Given the description of an element on the screen output the (x, y) to click on. 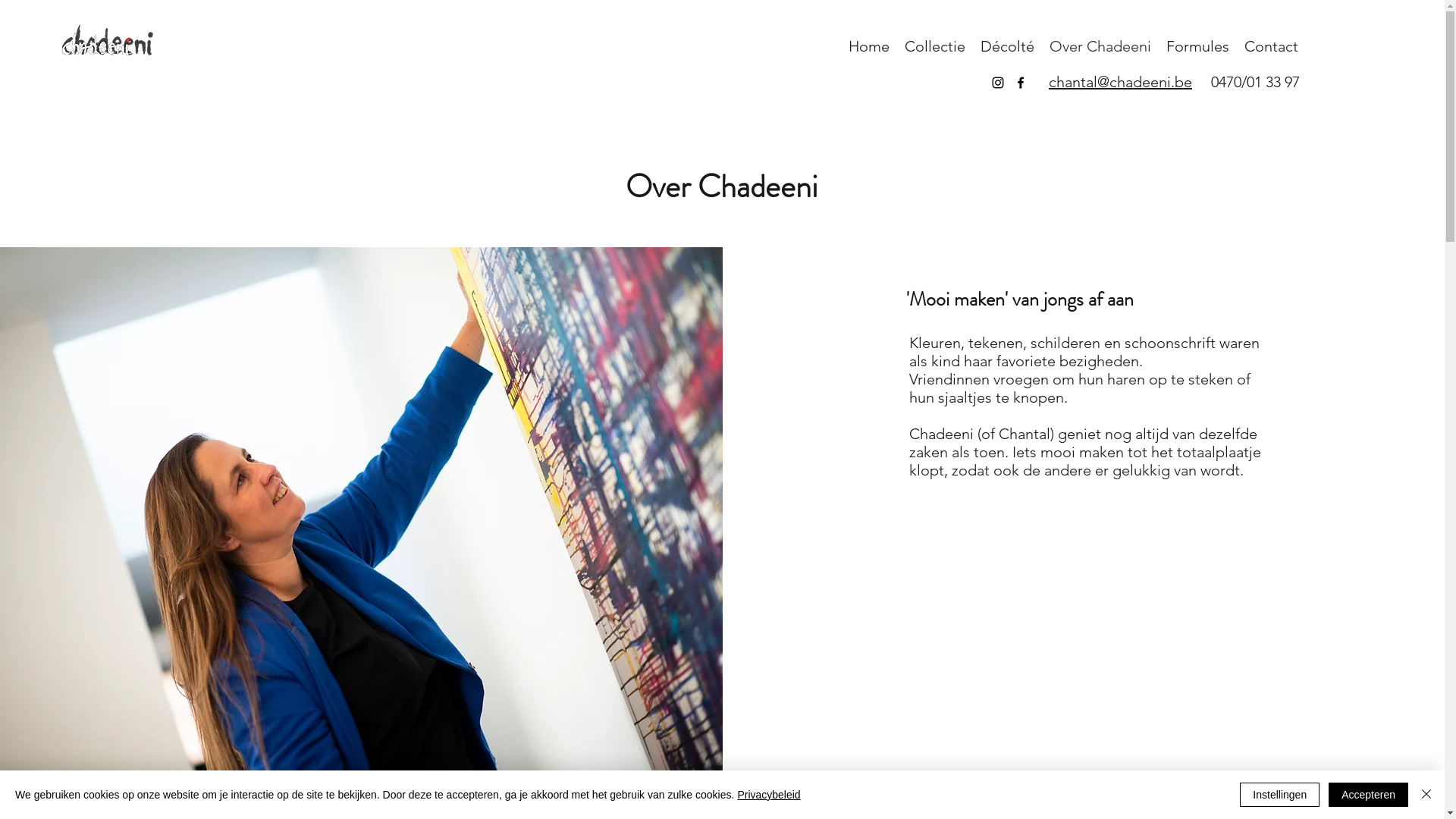
chantal@chadeeni.be Element type: text (1120, 81)
Home Element type: text (868, 45)
Privacybeleid Element type: text (768, 794)
   0470/01 33 97  Element type: text (1251, 81)
Formules Element type: text (1197, 45)
Instellingen Element type: text (1279, 794)
Over Chadeeni Element type: text (1099, 45)
Accepteren Element type: text (1368, 794)
TWIPLA (Visitor Analytics) Element type: hover (1442, 3)
Contact Element type: text (1270, 45)
Collectie Element type: text (934, 45)
